Given the description of an element on the screen output the (x, y) to click on. 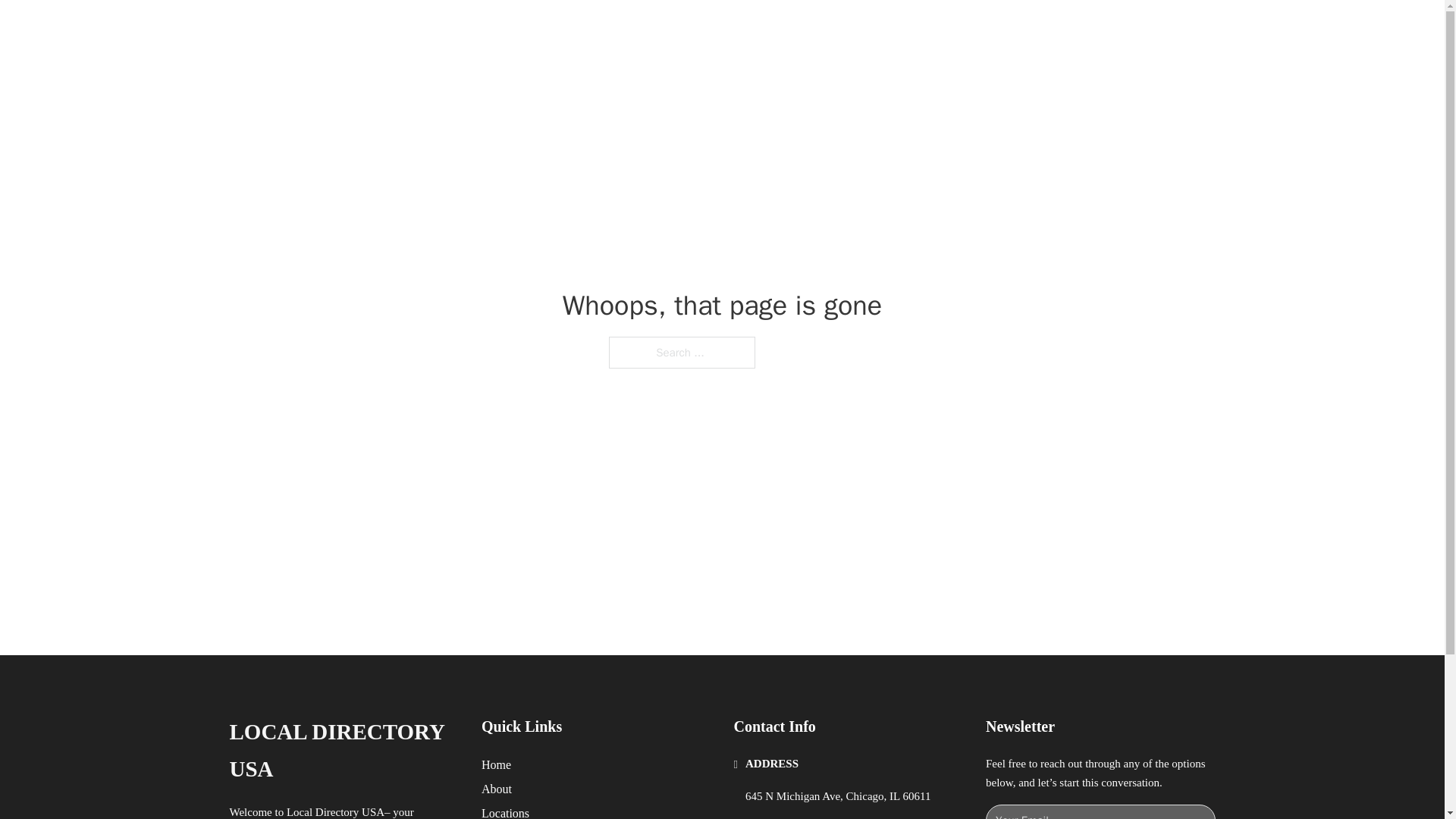
Home (496, 764)
About (496, 788)
LOCAL DIRECTORY USA (343, 750)
LOCATIONS (990, 29)
HOME (919, 29)
LOCAL DIRECTORY USA (425, 28)
Locations (505, 811)
